Given the description of an element on the screen output the (x, y) to click on. 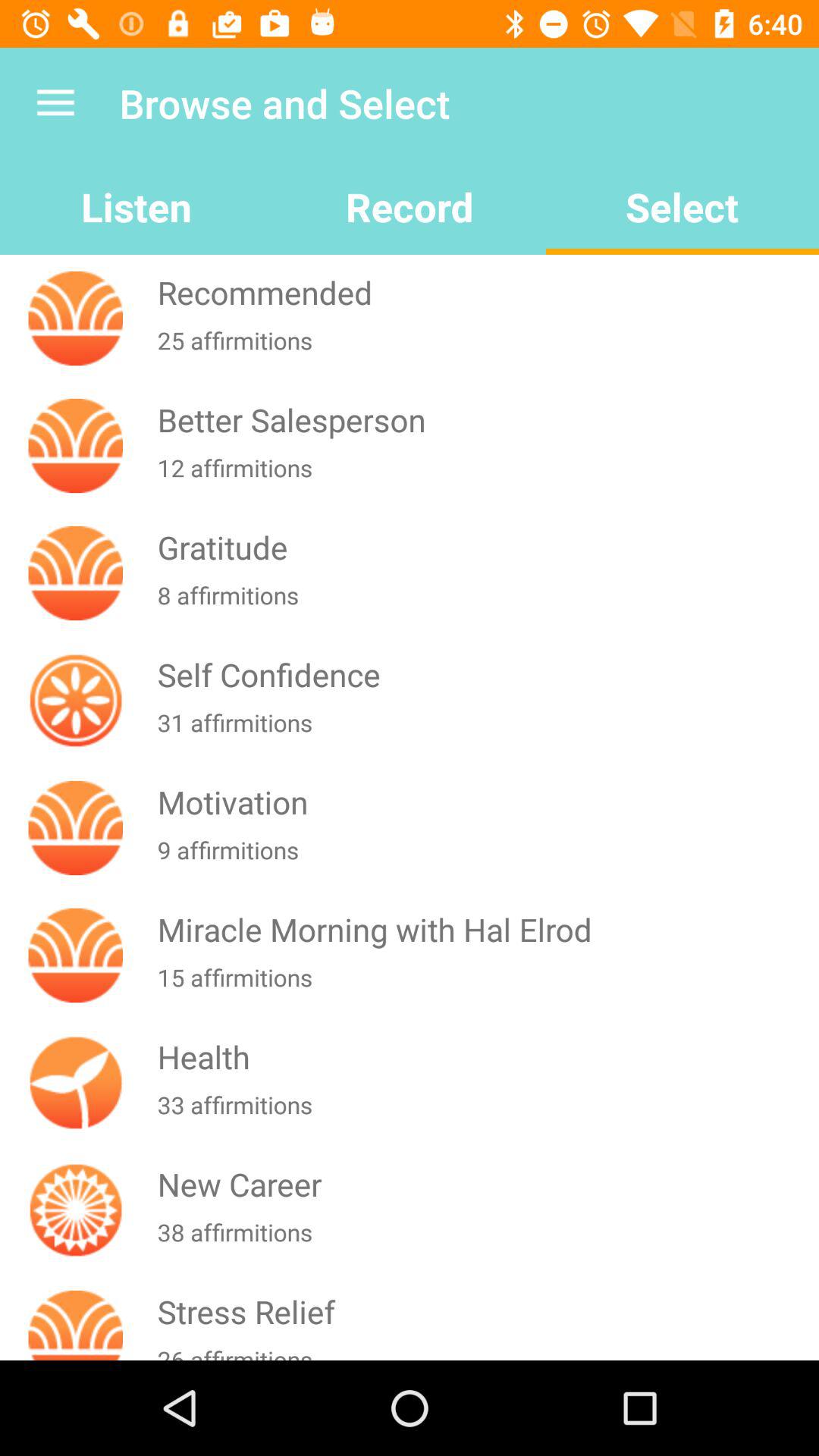
scroll until the 26 affirmitions icon (484, 1351)
